Given the description of an element on the screen output the (x, y) to click on. 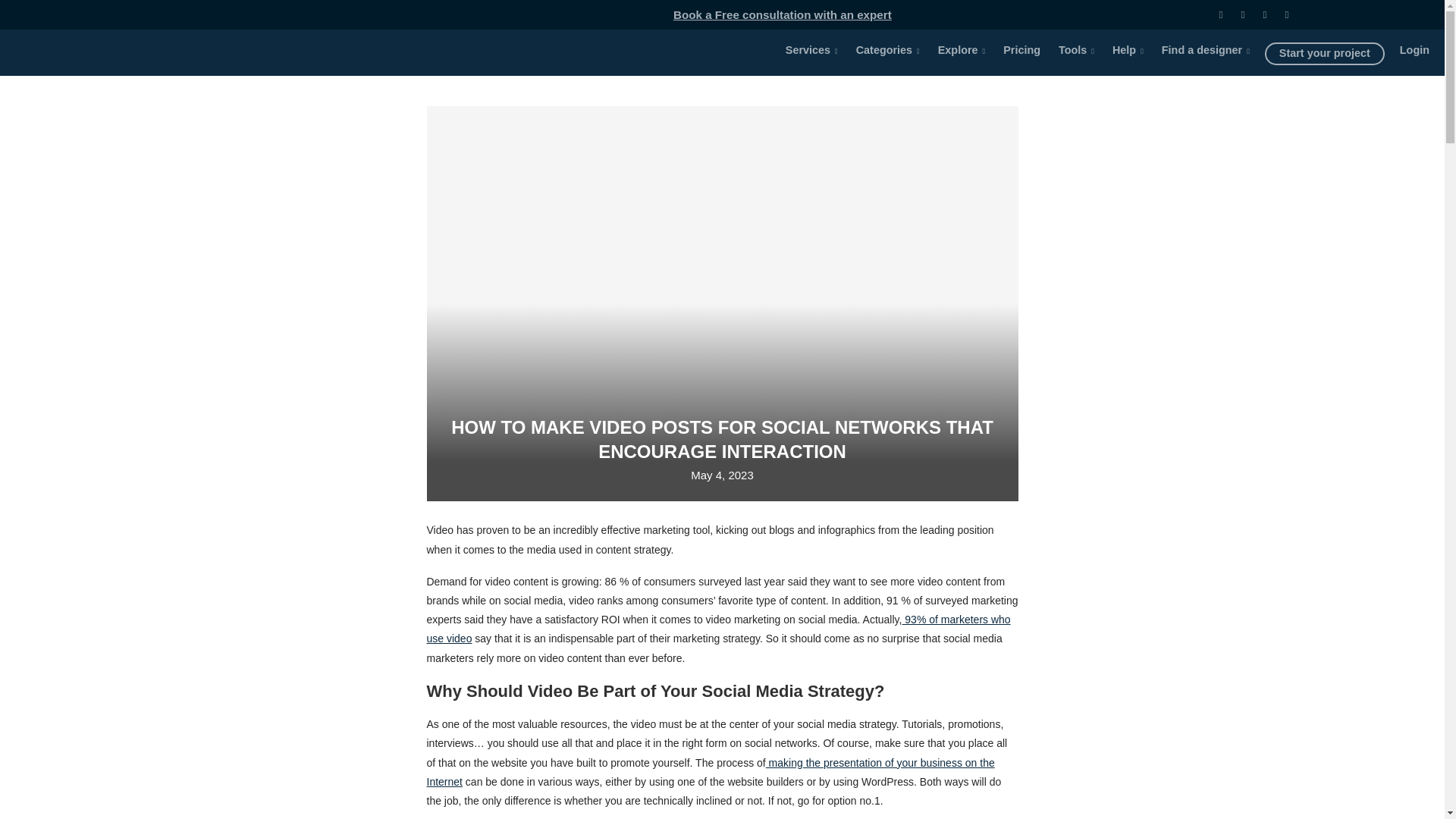
Book a Free consultation with an expert (782, 14)
Categories (888, 49)
Services (812, 49)
Explore (961, 49)
